Given the description of an element on the screen output the (x, y) to click on. 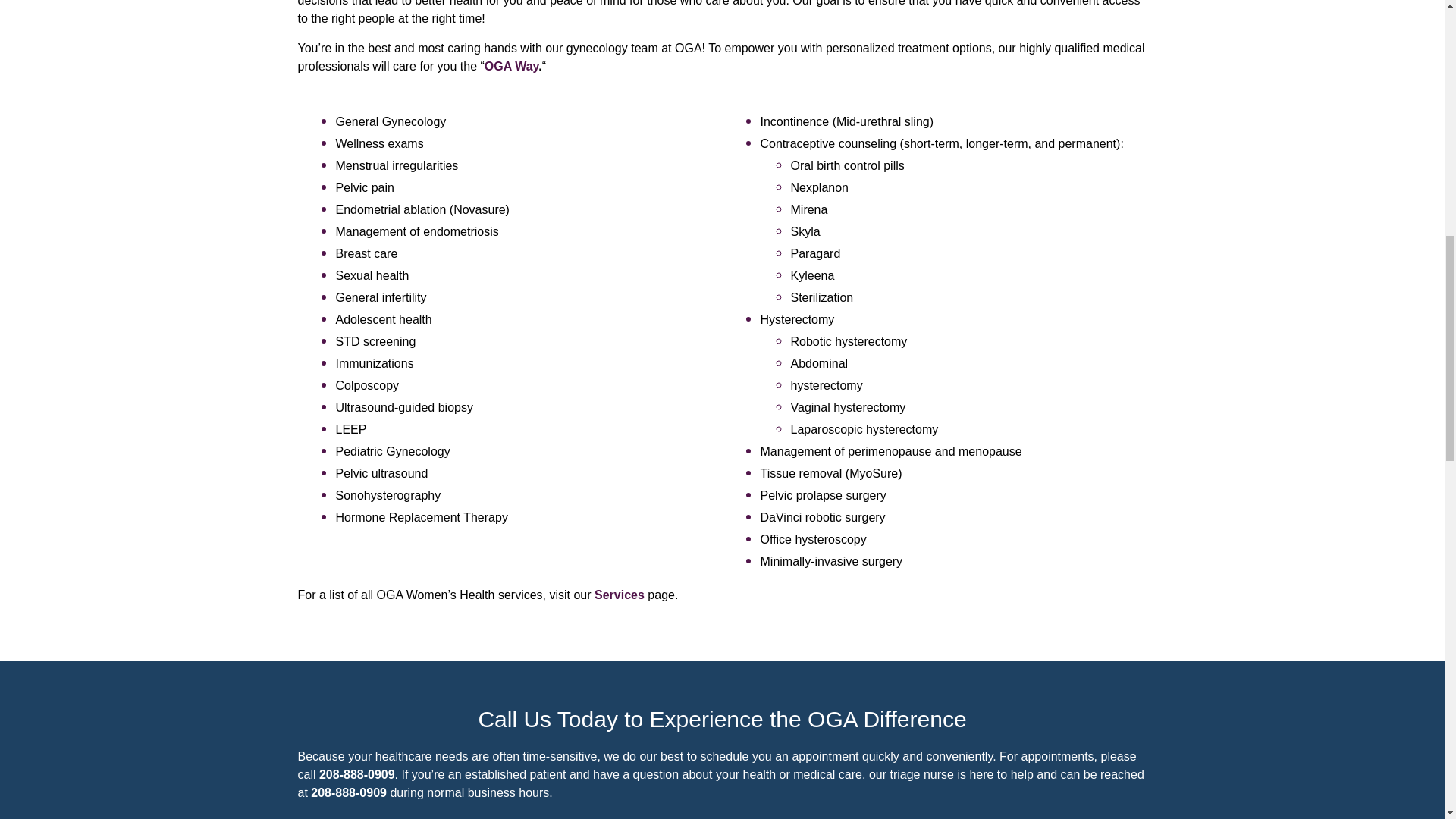
OBGYN Services (619, 594)
